Given the description of an element on the screen output the (x, y) to click on. 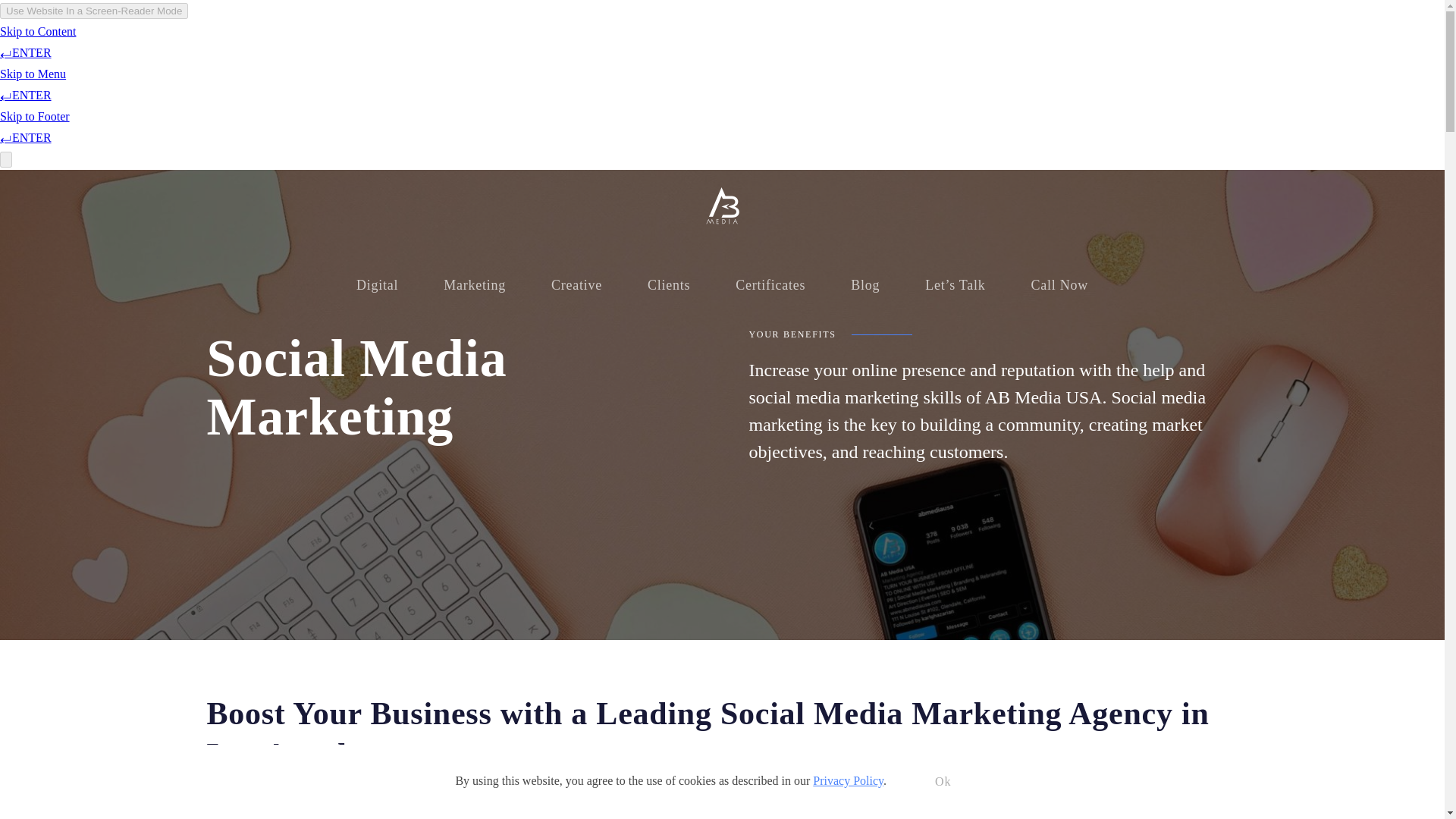
Call Now (1060, 285)
Clients (668, 285)
Creative (576, 285)
Privacy Policy (847, 780)
Marketing (474, 285)
Ok (943, 781)
Blog (865, 285)
Certificates (770, 285)
Digital (376, 285)
